Given the description of an element on the screen output the (x, y) to click on. 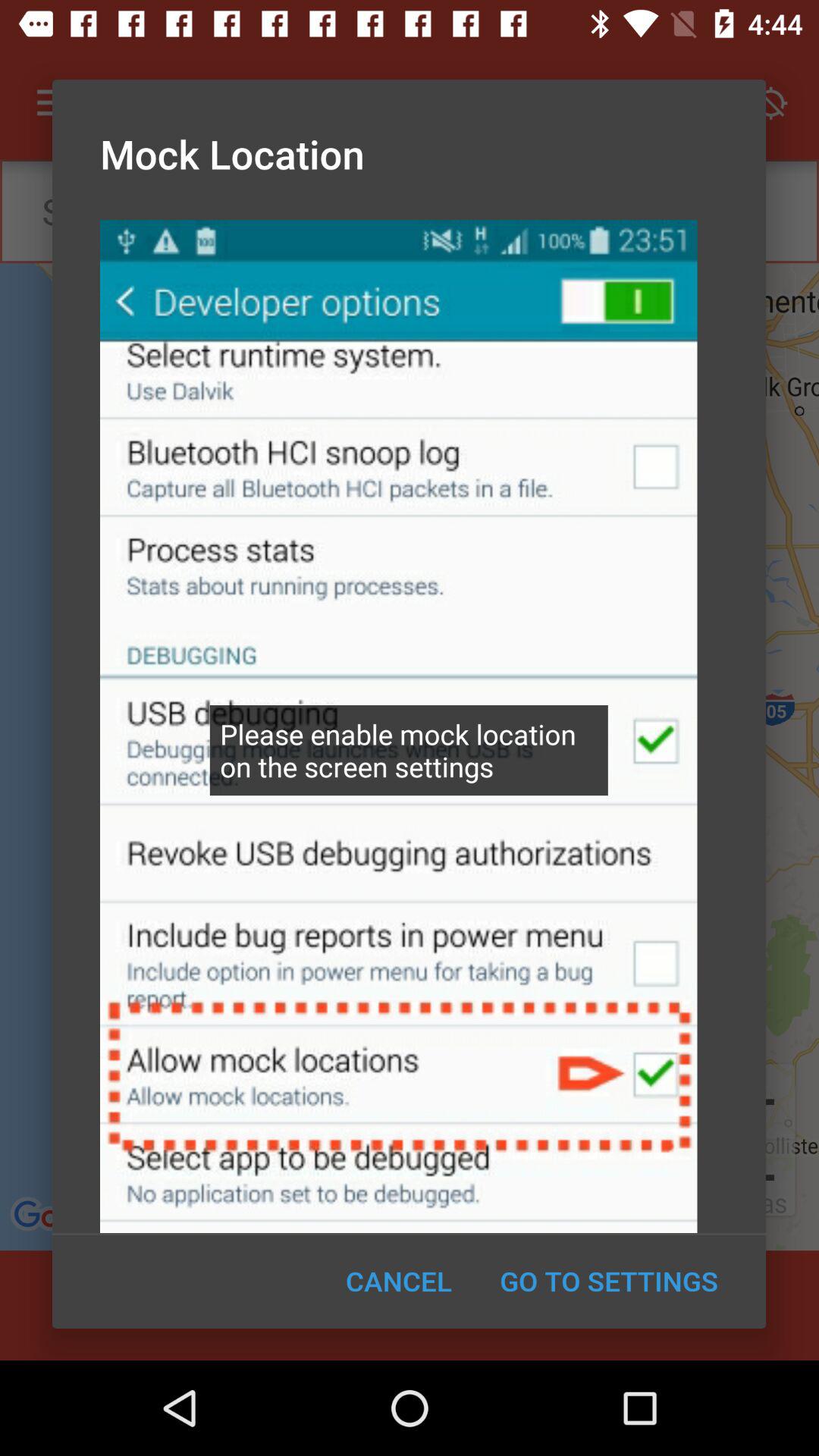
press the go to settings item (609, 1280)
